Given the description of an element on the screen output the (x, y) to click on. 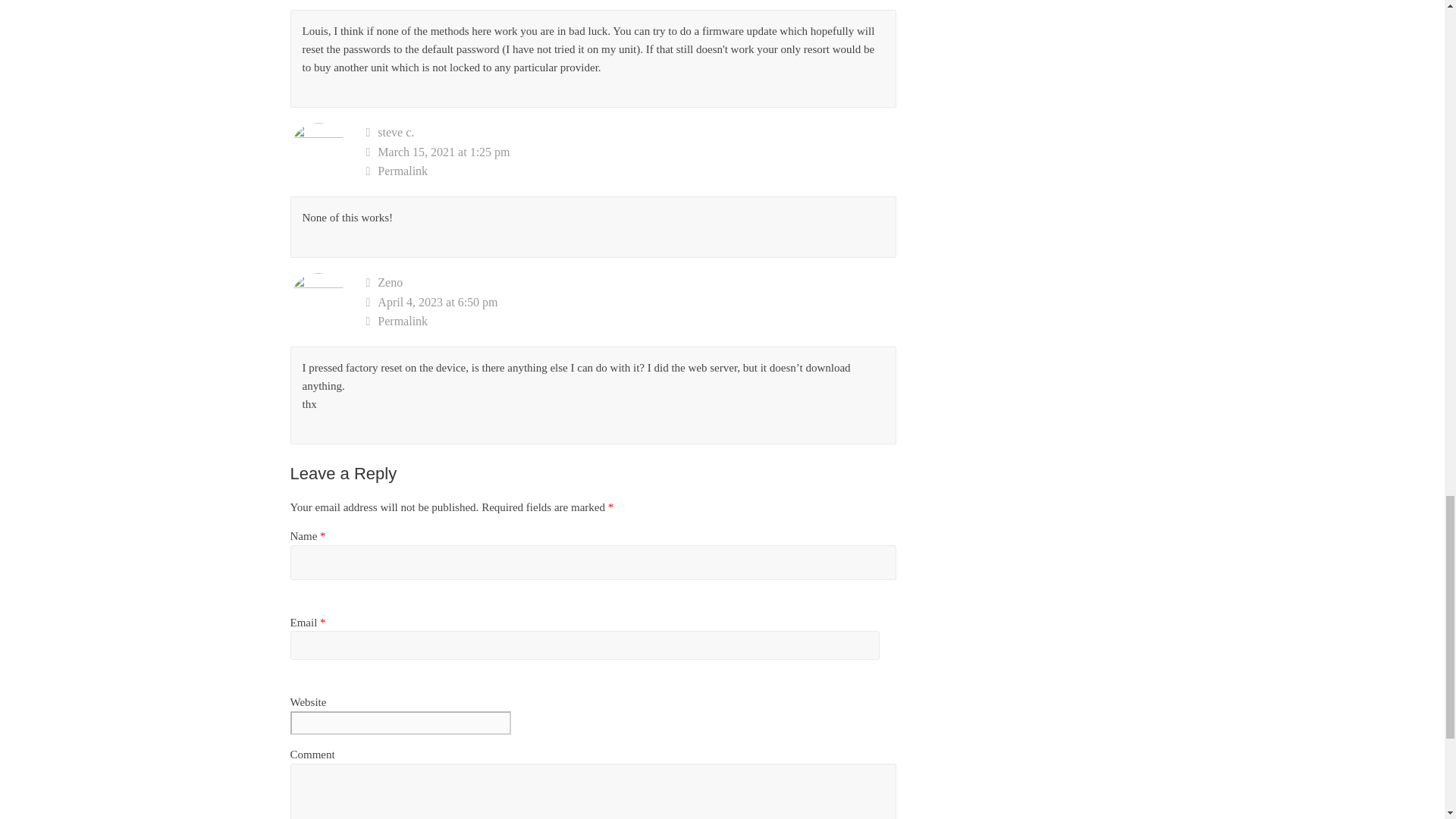
Permalink (630, 170)
Permalink (630, 321)
